Given the description of an element on the screen output the (x, y) to click on. 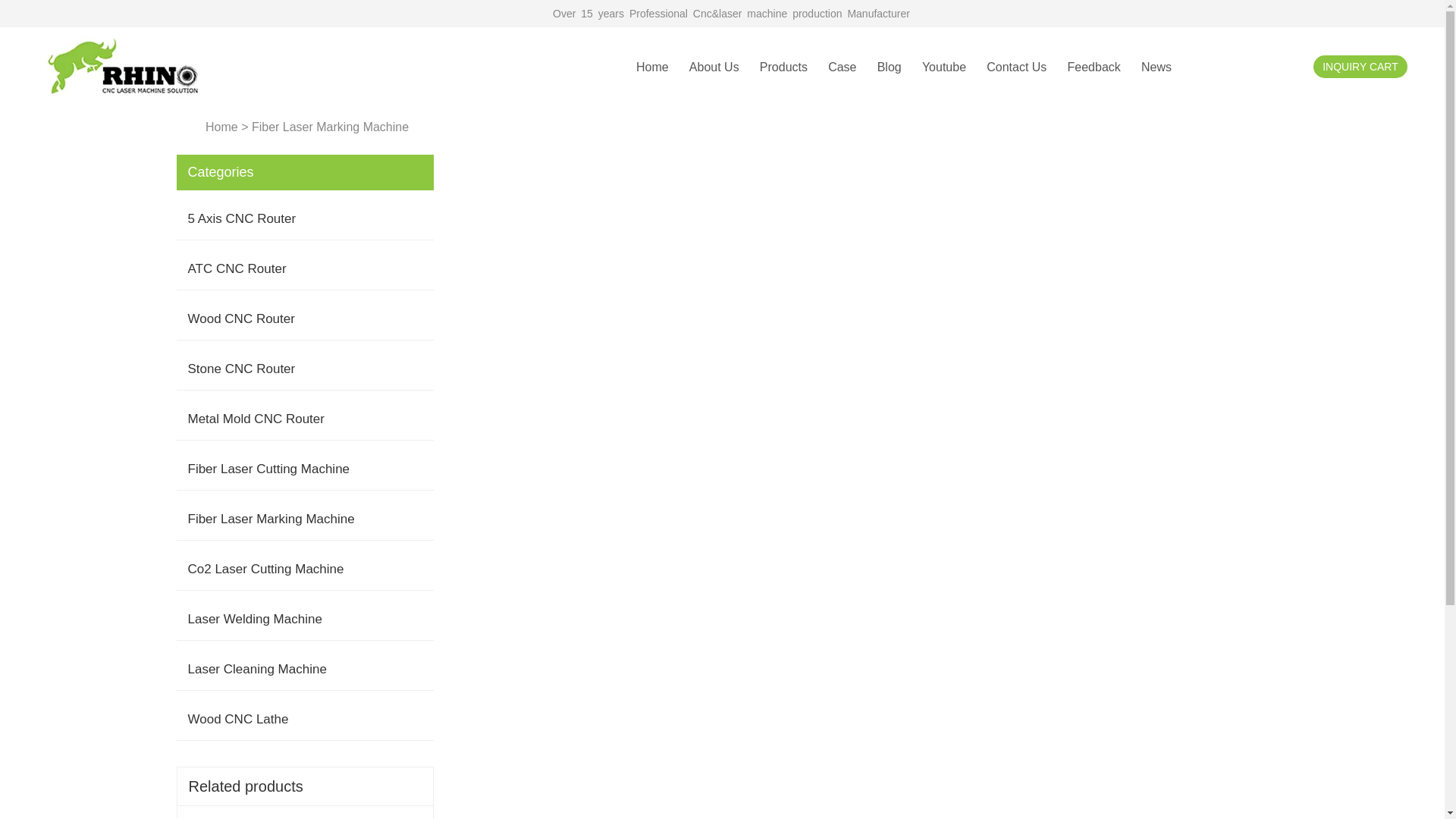
Home (652, 66)
Case (842, 66)
About Us (713, 66)
Products (784, 66)
